Given the description of an element on the screen output the (x, y) to click on. 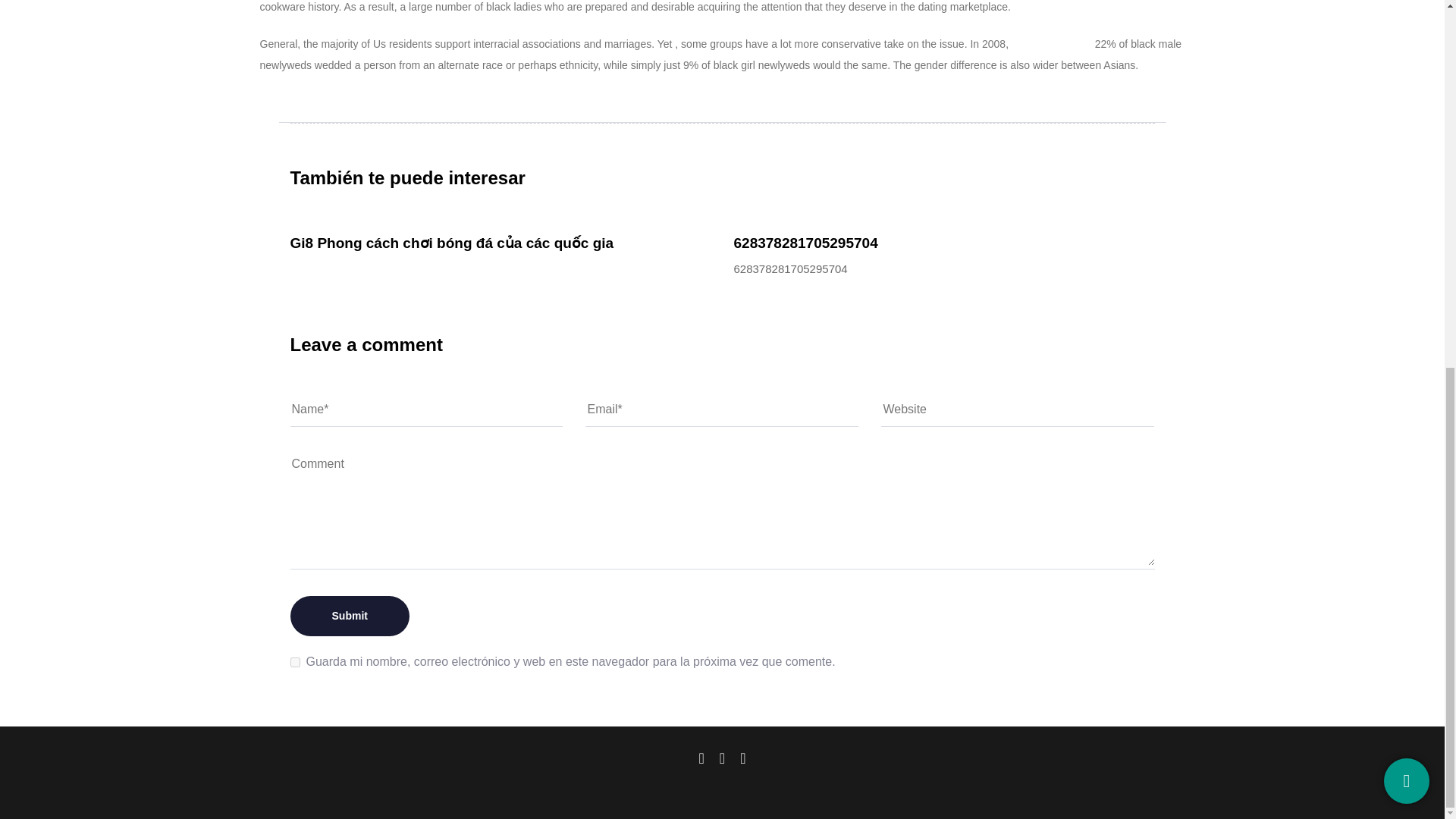
yes (294, 662)
Submit (349, 616)
